Given the description of an element on the screen output the (x, y) to click on. 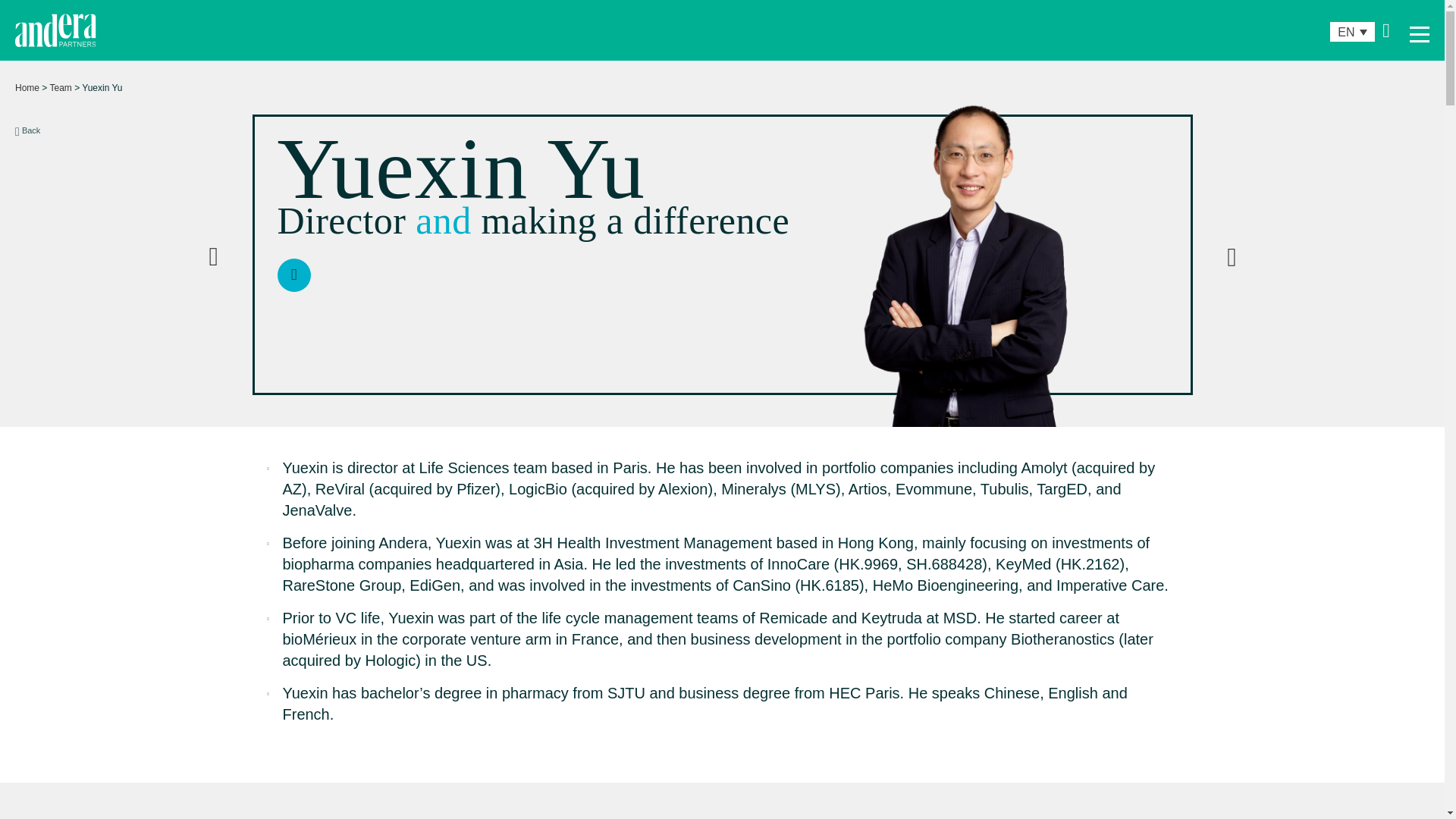
Home (26, 87)
Back (27, 130)
Team (60, 87)
EN (1352, 32)
